Given the description of an element on the screen output the (x, y) to click on. 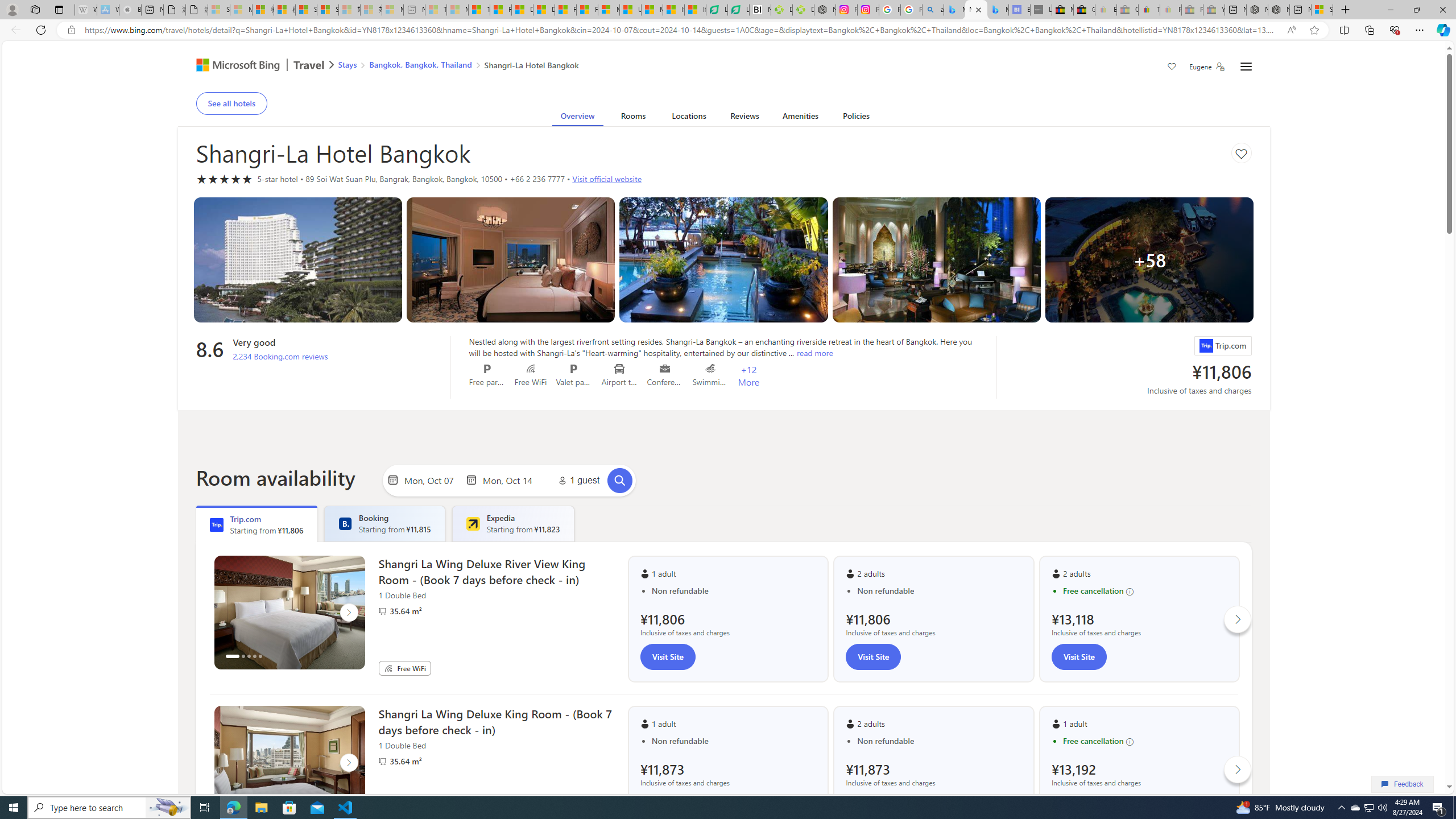
Marine life - MSN - Sleeping (457, 9)
read more (814, 352)
Nordace - Summer Adventures 2024 (1278, 9)
Hotel room image (936, 259)
Microsoft Bing Travel (253, 65)
US Heat Deaths Soared To Record High Last Year (630, 9)
Class: msft-bing-logo msft-bing-logo-desktop (234, 64)
Rooms (633, 118)
